Given the description of an element on the screen output the (x, y) to click on. 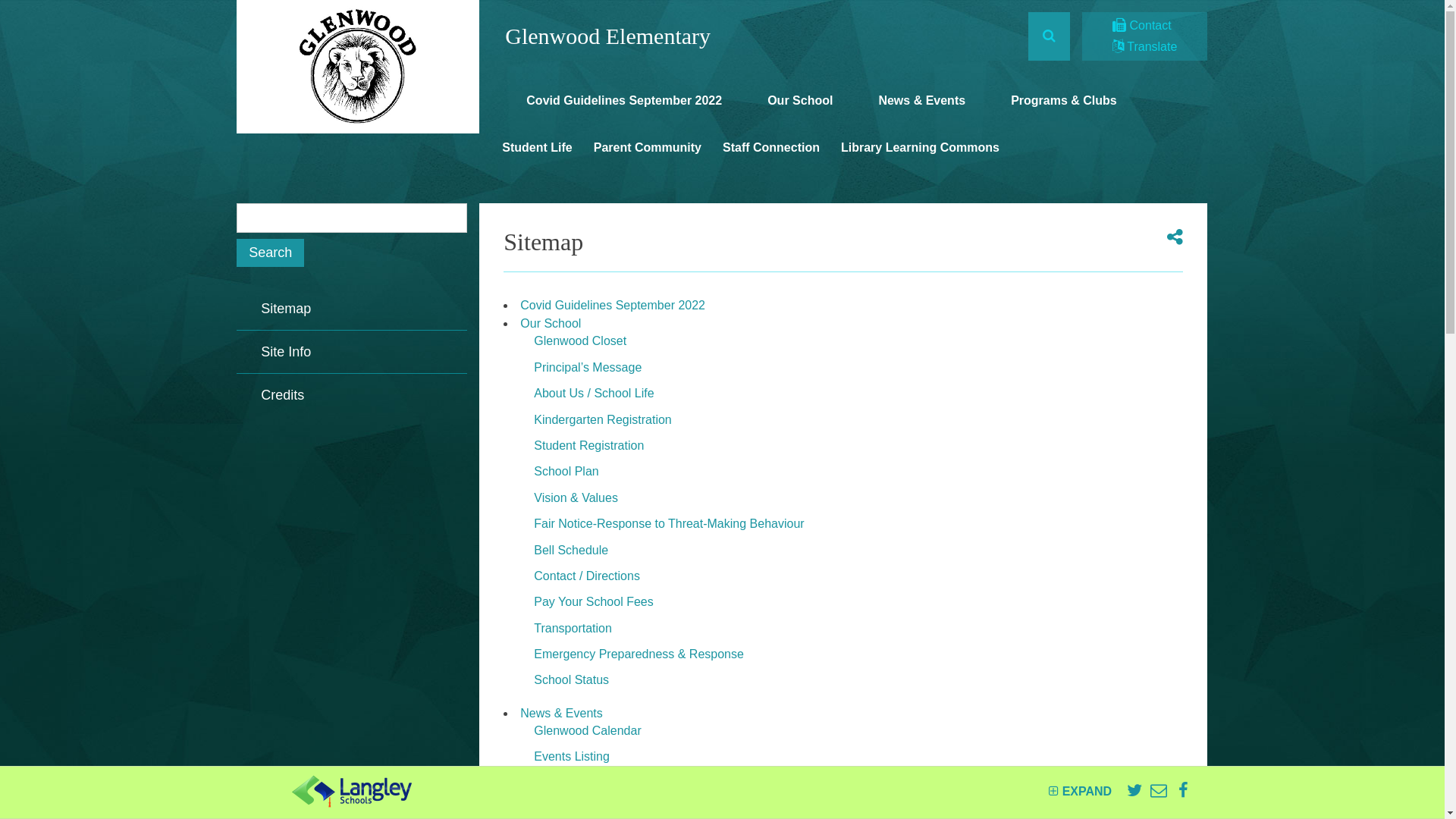
Staff Connection Element type: text (771, 154)
Programs & Clubs Element type: text (1051, 107)
Covid Guidelines September 2022 Element type: text (611, 107)
News & Events Element type: text (561, 712)
District Calendars Element type: text (581, 808)
Bell Schedule Element type: text (570, 549)
 Contact Element type: text (1141, 24)
Transportation Element type: text (572, 627)
 Translate Element type: text (1144, 46)
Events Listing Element type: text (571, 755)
 EXPAND Element type: text (1079, 791)
Vision & Values Element type: text (575, 497)
SD35, Langley School District Element type: hover (351, 791)
School Status Element type: text (570, 679)
News & Events Element type: text (909, 107)
Glenwood Closet Element type: text (579, 340)
Our School Element type: text (787, 107)
Student Life Element type: text (536, 154)
Credits Element type: text (351, 394)
Fair Notice-Response to Threat-Making Behaviour Element type: text (668, 523)
Student Registration Element type: text (588, 445)
Emergency Preparedness & Response Element type: text (638, 653)
Glenwood Calendar Element type: text (586, 730)
Kindergarten Registration Element type: text (602, 419)
Pay Your School Fees Element type: text (592, 601)
School Plan Element type: text (565, 470)
Newsletters-Glenwood (are emailed to families) Element type: text (660, 782)
Site Info Element type: text (351, 351)
Parent Community Element type: text (647, 154)
Covid Guidelines September 2022 Element type: text (612, 304)
Search Element type: text (270, 252)
Contact / Directions Element type: text (586, 575)
Our School Element type: text (550, 322)
About Us / School Life Element type: text (593, 392)
Sitemap Element type: text (351, 308)
Library Learning Commons Element type: text (920, 154)
